Given the description of an element on the screen output the (x, y) to click on. 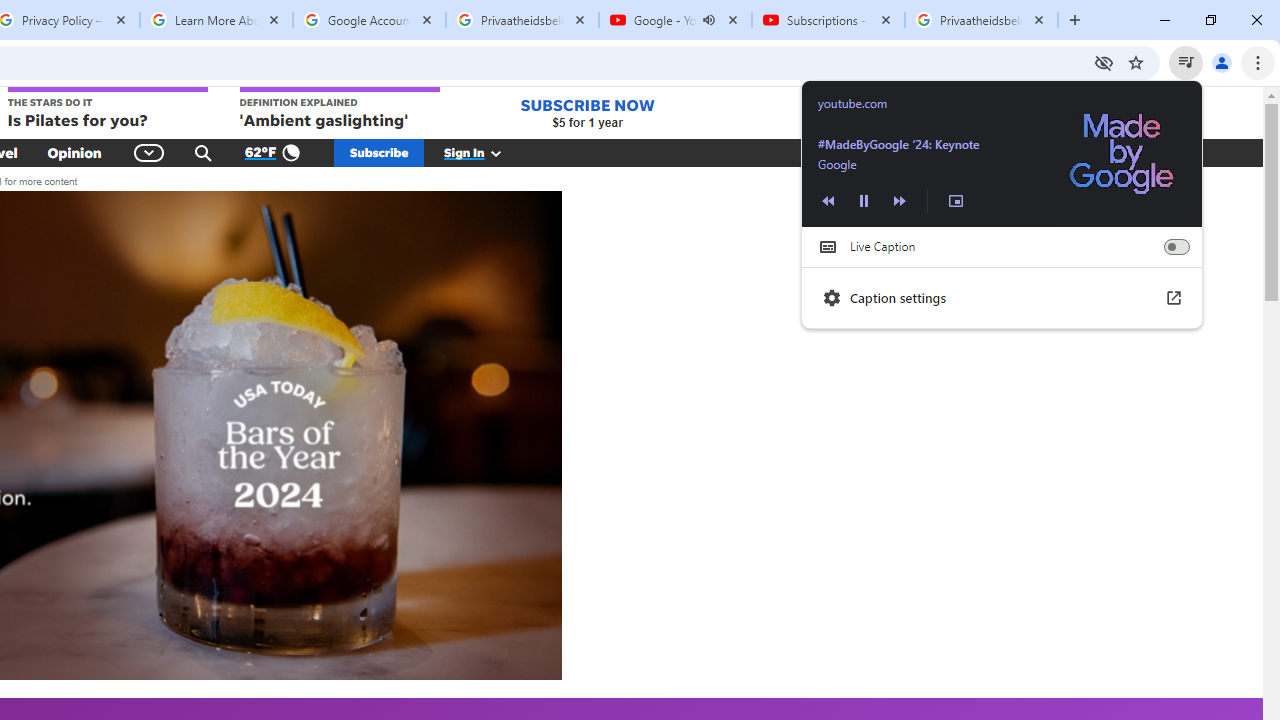
Minimize (1165, 20)
Mute tab (708, 20)
New Tab (1075, 20)
Live Caption (1176, 246)
Search (203, 152)
Third-party cookies blocked (1103, 62)
Seek Forward (899, 200)
Subscribe (379, 152)
Enter picture-in-picture (956, 200)
SUBSCRIBE NOW $5 for 1 year (587, 112)
Caption settings  (1001, 297)
Restore (1210, 20)
